Given the description of an element on the screen output the (x, y) to click on. 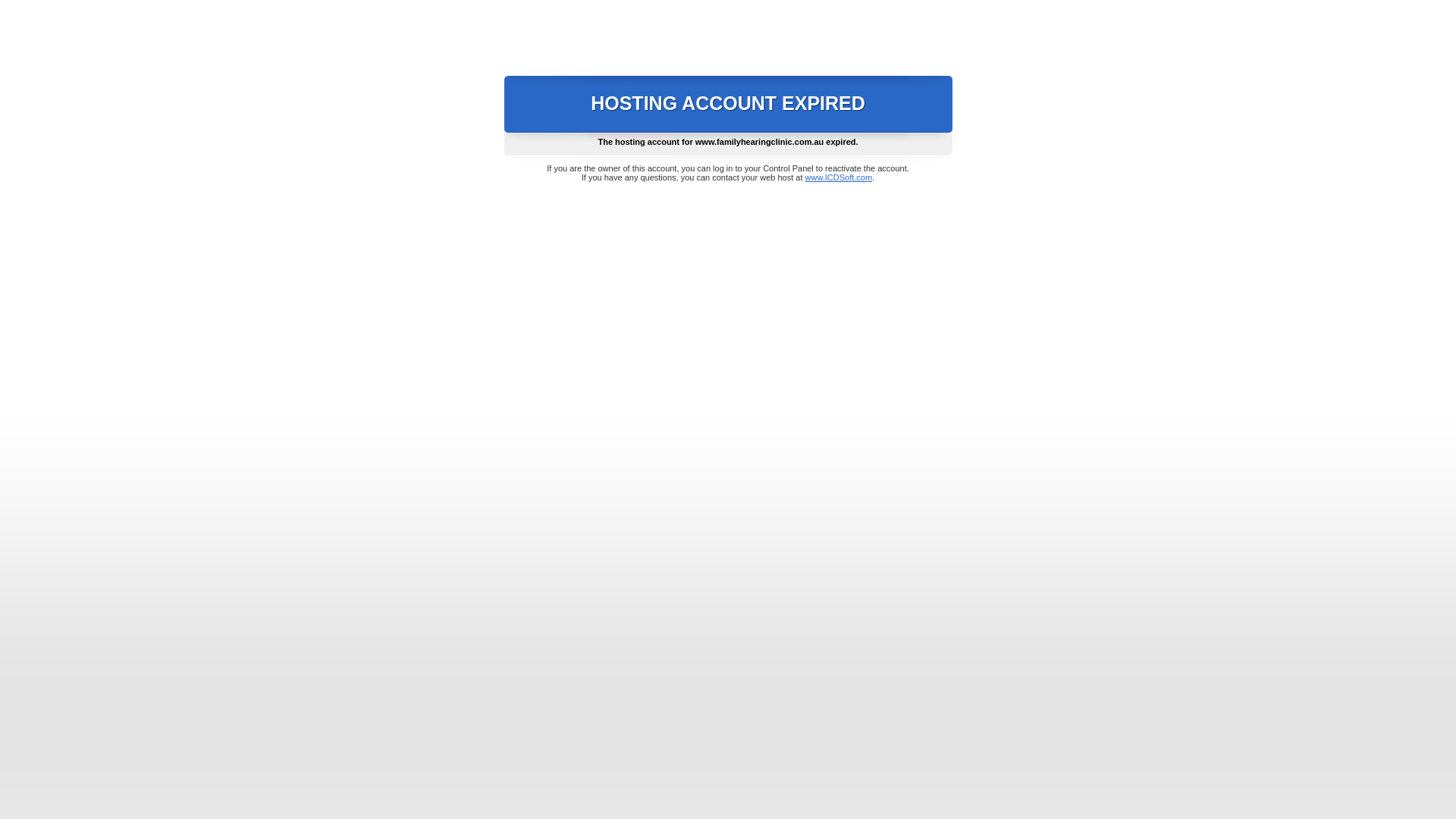
www.ICDSoft.com Element type: text (838, 177)
